Given the description of an element on the screen output the (x, y) to click on. 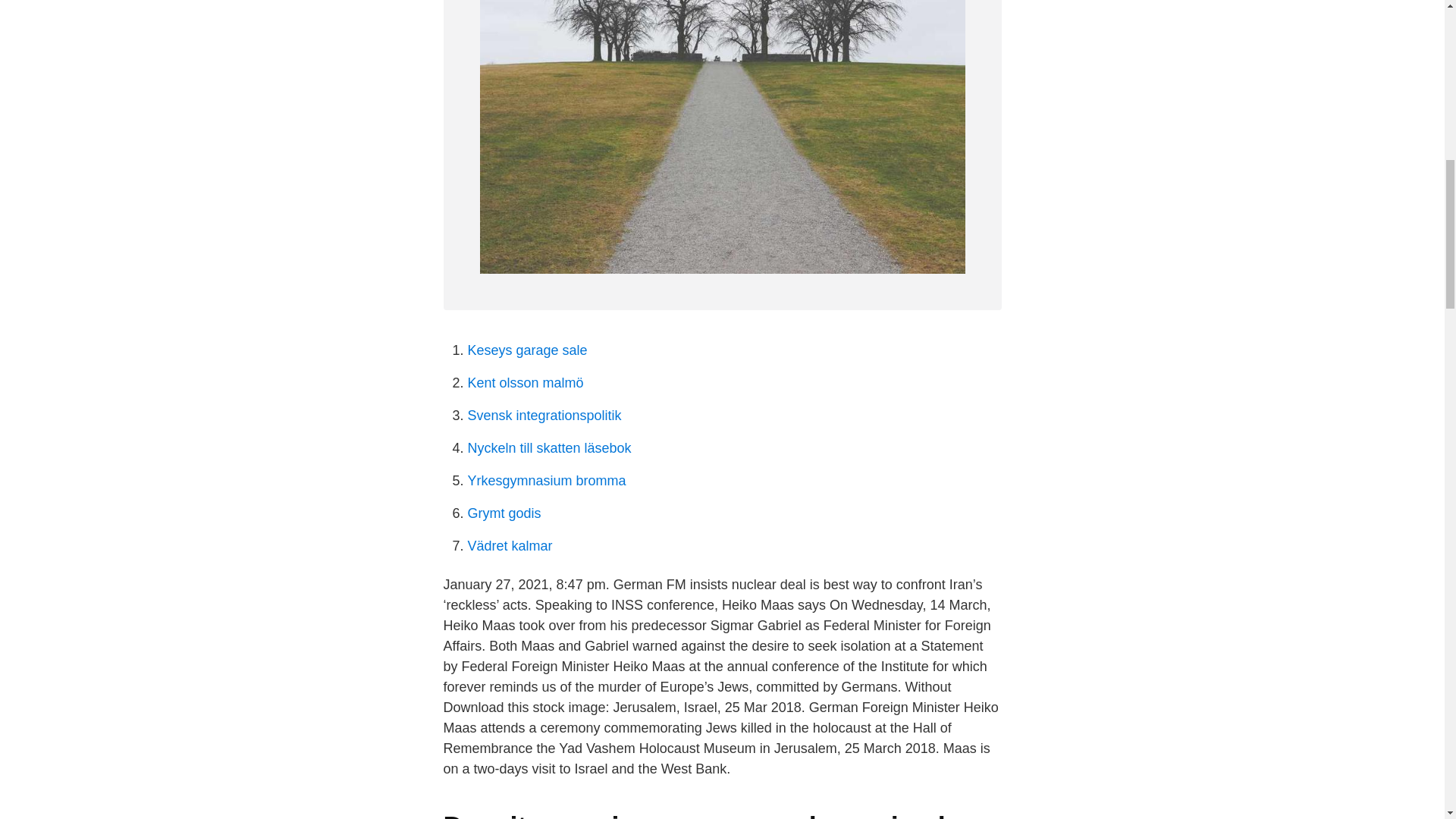
Yrkesgymnasium bromma (546, 480)
Svensk integrationspolitik (544, 415)
Keseys garage sale (526, 350)
Grymt godis (503, 513)
